Given the description of an element on the screen output the (x, y) to click on. 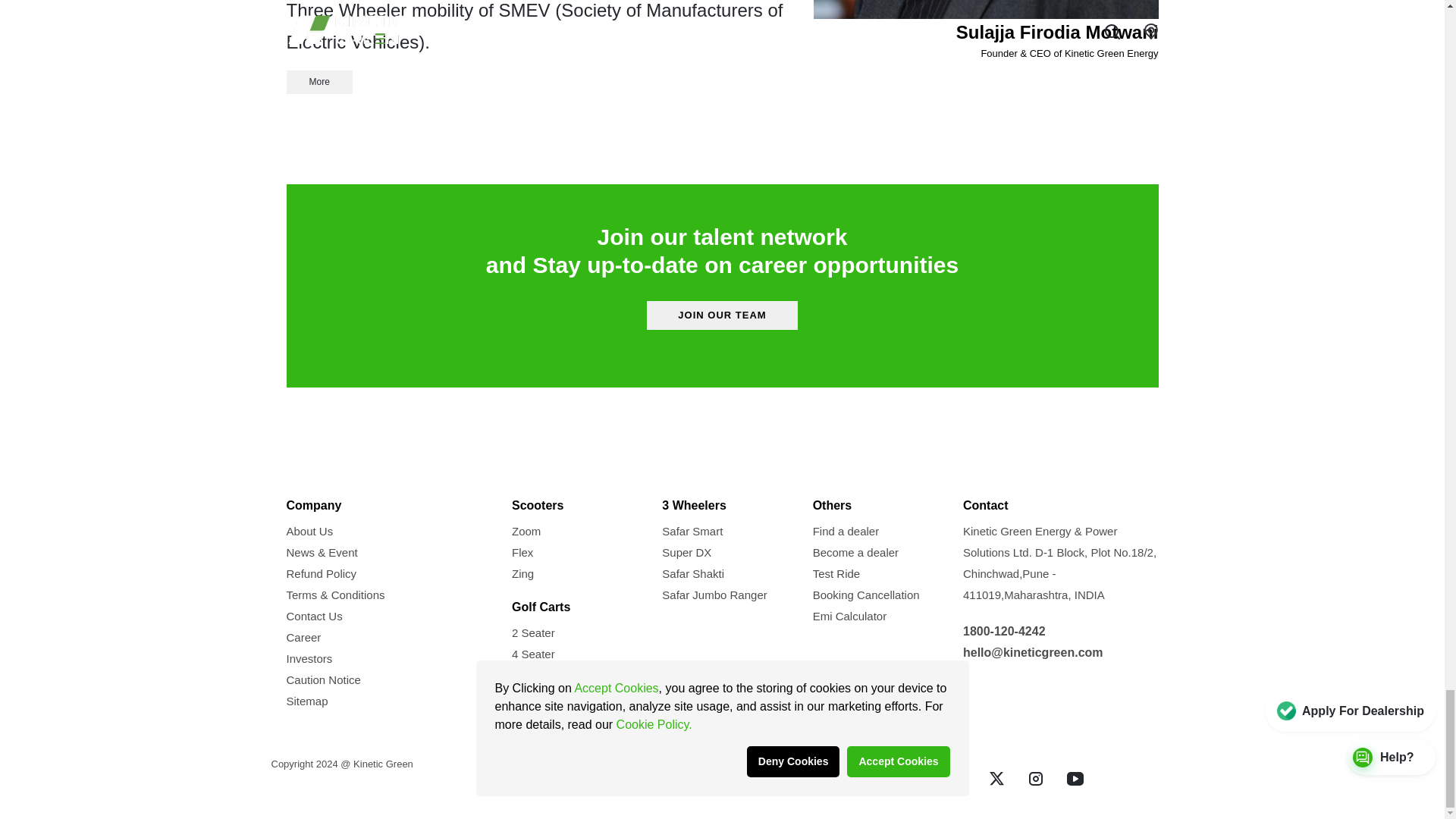
JOIN OUR TEAM (721, 315)
More (319, 82)
